Given the description of an element on the screen output the (x, y) to click on. 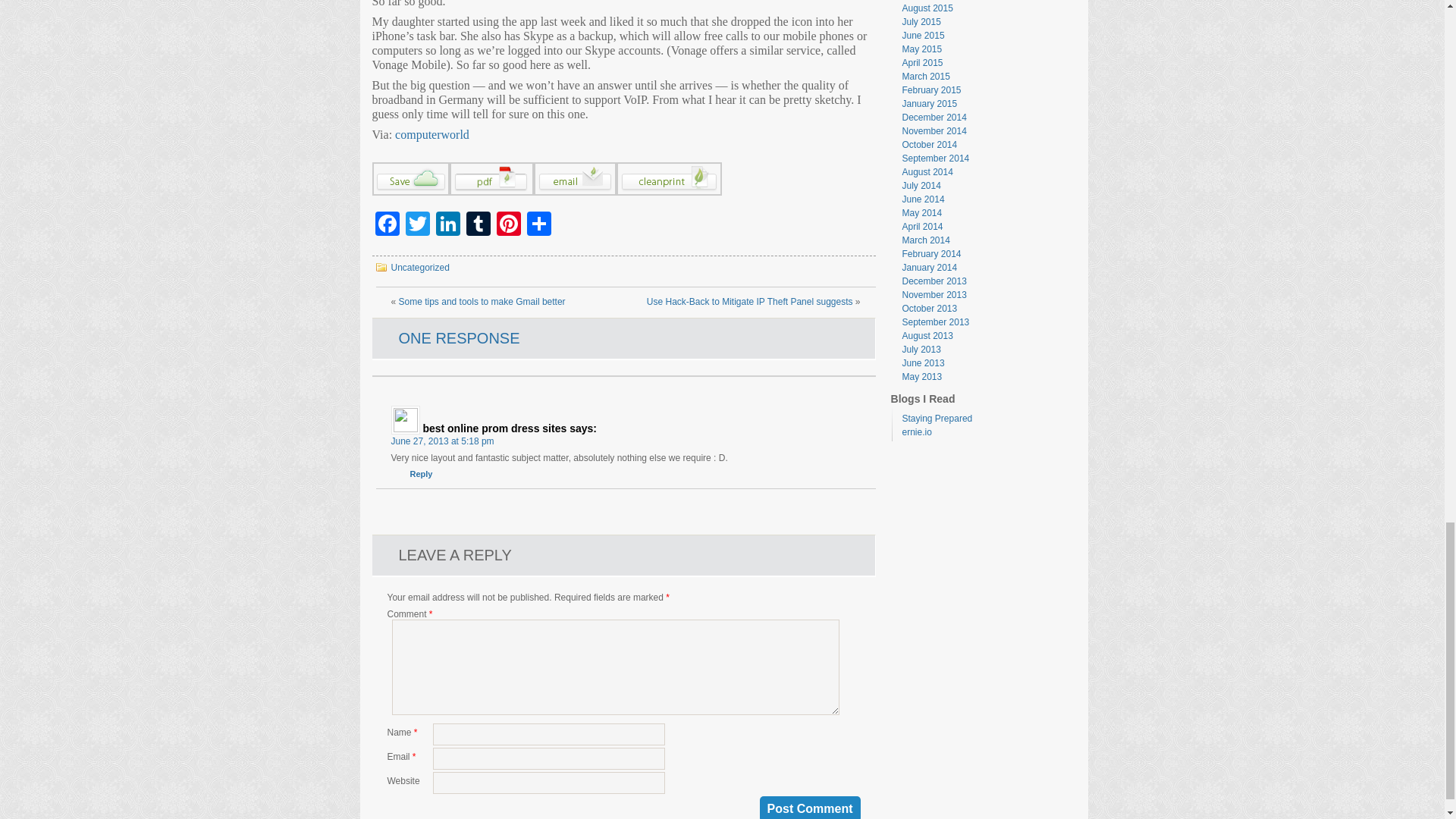
Twitter (416, 225)
Email page (574, 192)
June 27, 2013 at 5:18 pm (443, 440)
PDF page (490, 192)
Some tips and tools to make Gmail better (482, 301)
Reply (420, 473)
computerworld (431, 133)
ONE RESPONSE (458, 338)
LinkedIn (447, 225)
Uncategorized (420, 267)
Pinterest (507, 225)
Print page (667, 192)
Save page (409, 192)
LinkedIn (447, 225)
Tumblr (478, 225)
